Given the description of an element on the screen output the (x, y) to click on. 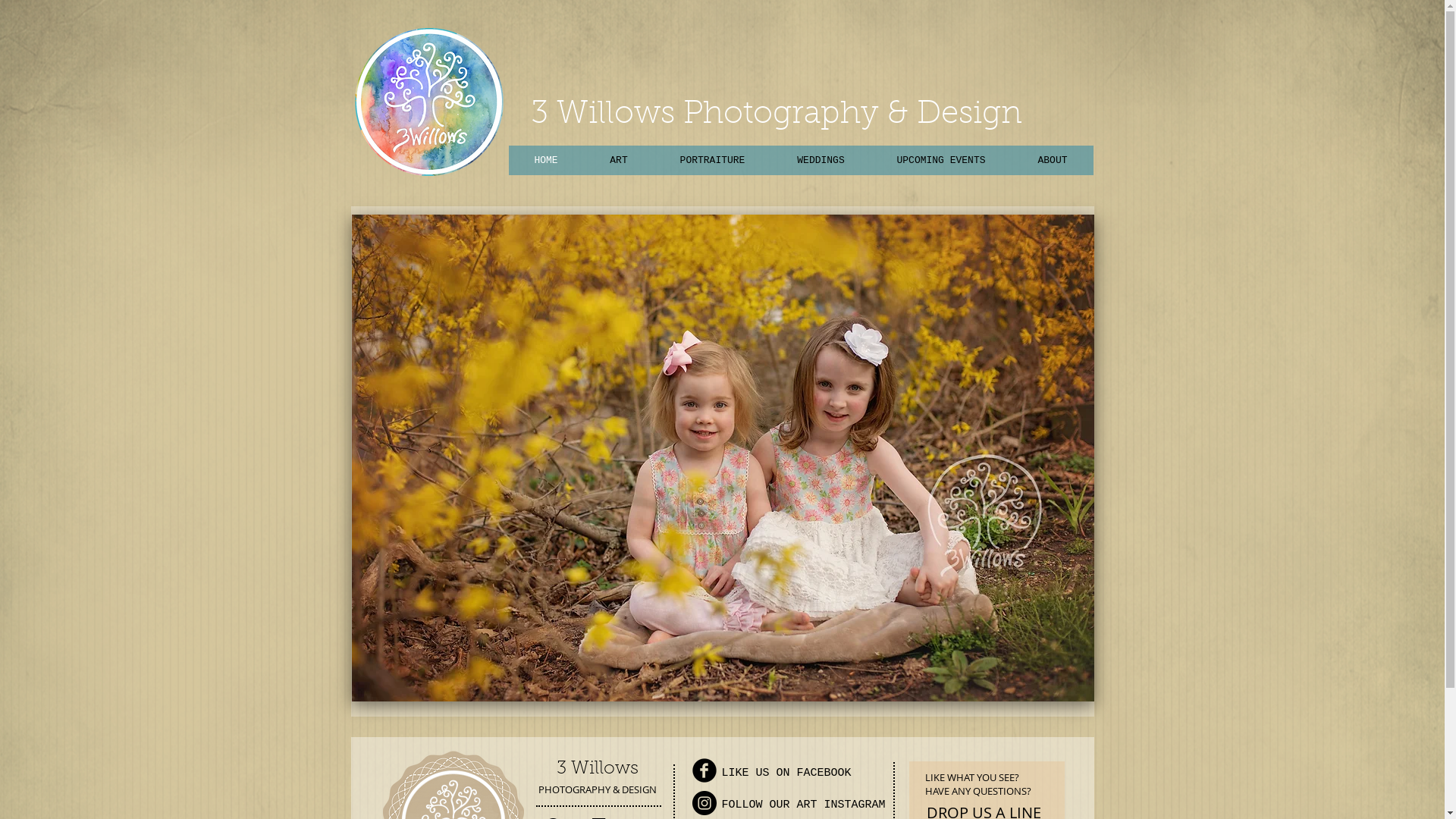
LIKE US ON FACEBOOK Element type: text (786, 772)
HOME Element type: text (545, 160)
PORTRAITURE Element type: text (712, 160)
ART Element type: text (618, 160)
UPCOMING EVENTS Element type: text (940, 160)
WEDDINGS Element type: text (819, 160)
ABOUT Element type: text (1052, 160)
FOLLOW OUR ART INSTAGRAM Element type: text (803, 804)
